Given the description of an element on the screen output the (x, y) to click on. 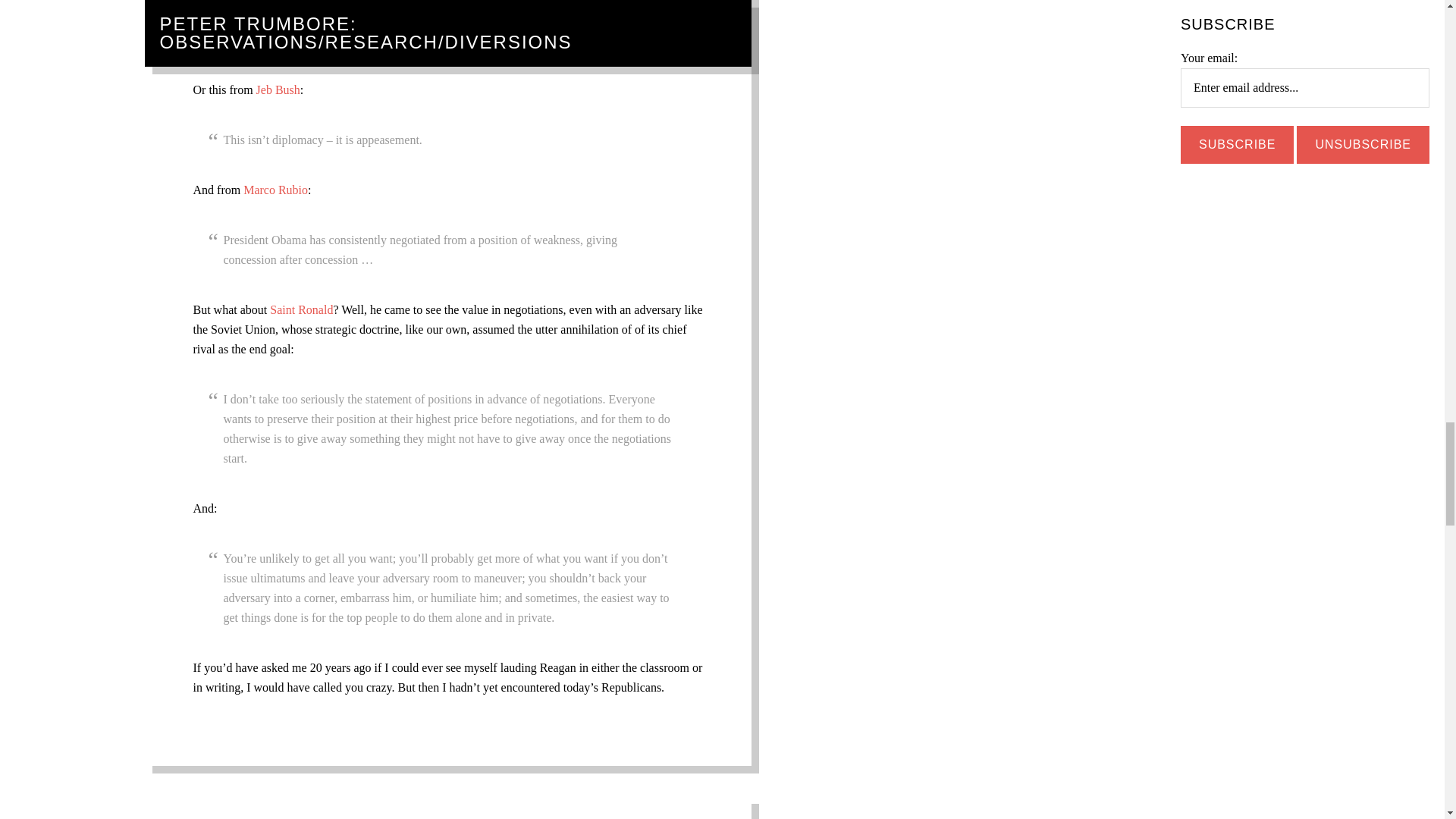
Marco Rubio (275, 189)
Jeb Bush (277, 89)
Saint Ronald (301, 309)
